Given the description of an element on the screen output the (x, y) to click on. 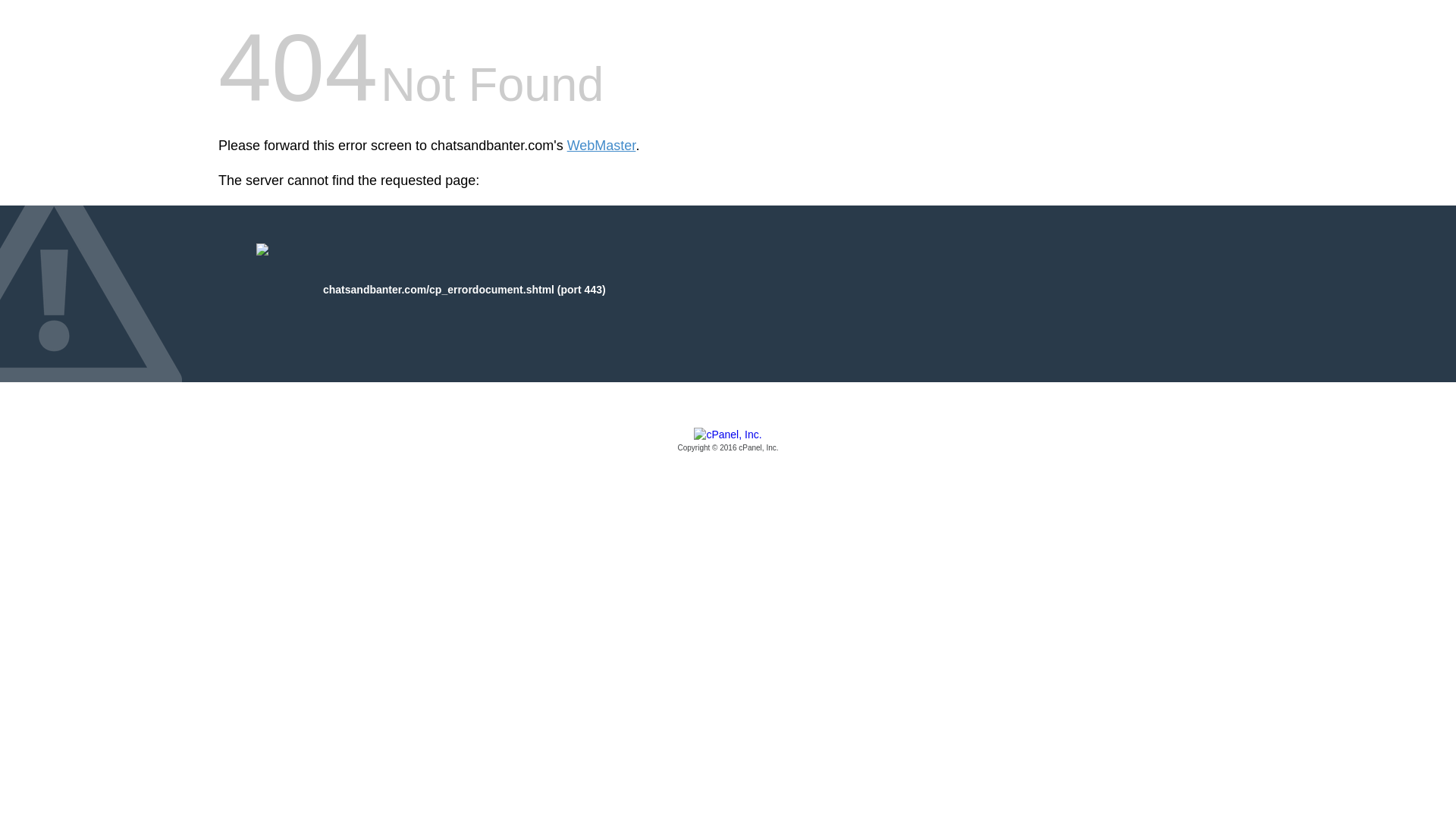
WebMaster (601, 145)
cPanel, Inc. (727, 440)
